Given the description of an element on the screen output the (x, y) to click on. 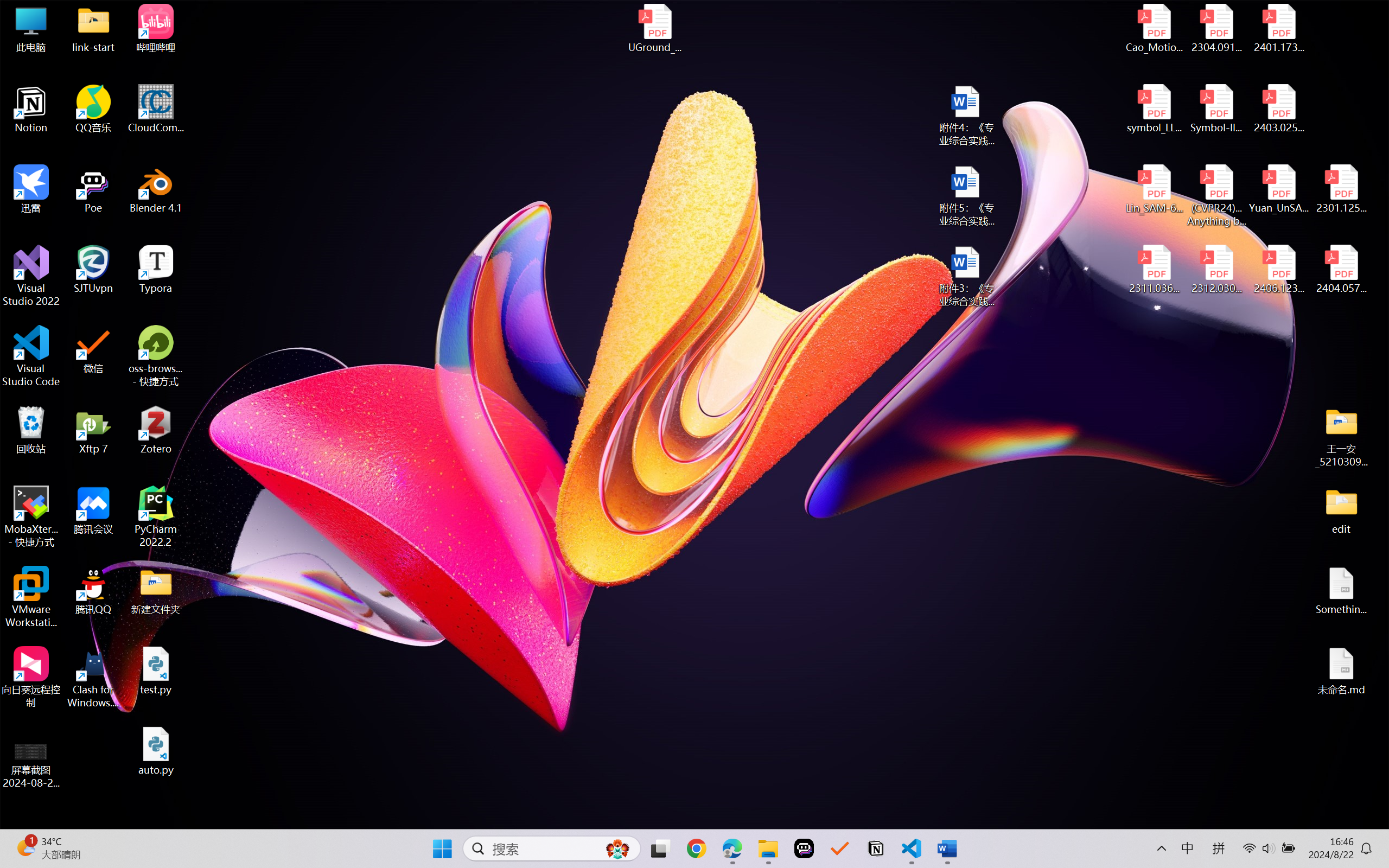
PyCharm 2022.2 (156, 516)
2301.12597v3.pdf (1340, 189)
2312.03032v2.pdf (1216, 269)
SJTUvpn (93, 269)
